Given the description of an element on the screen output the (x, y) to click on. 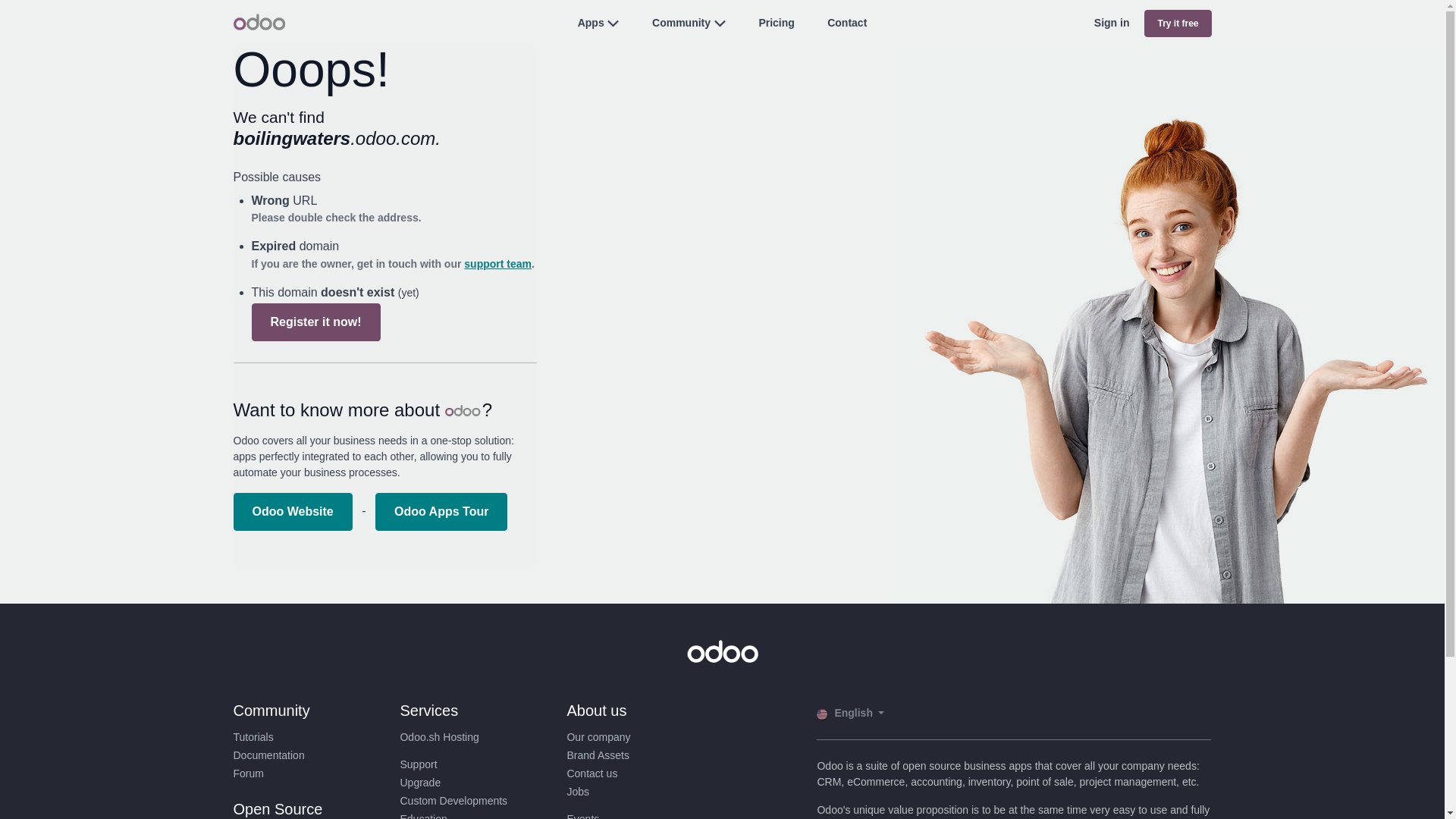
Apps (591, 22)
Sign in (1111, 22)
Odoo (258, 21)
Try it free (1177, 22)
